Given the description of an element on the screen output the (x, y) to click on. 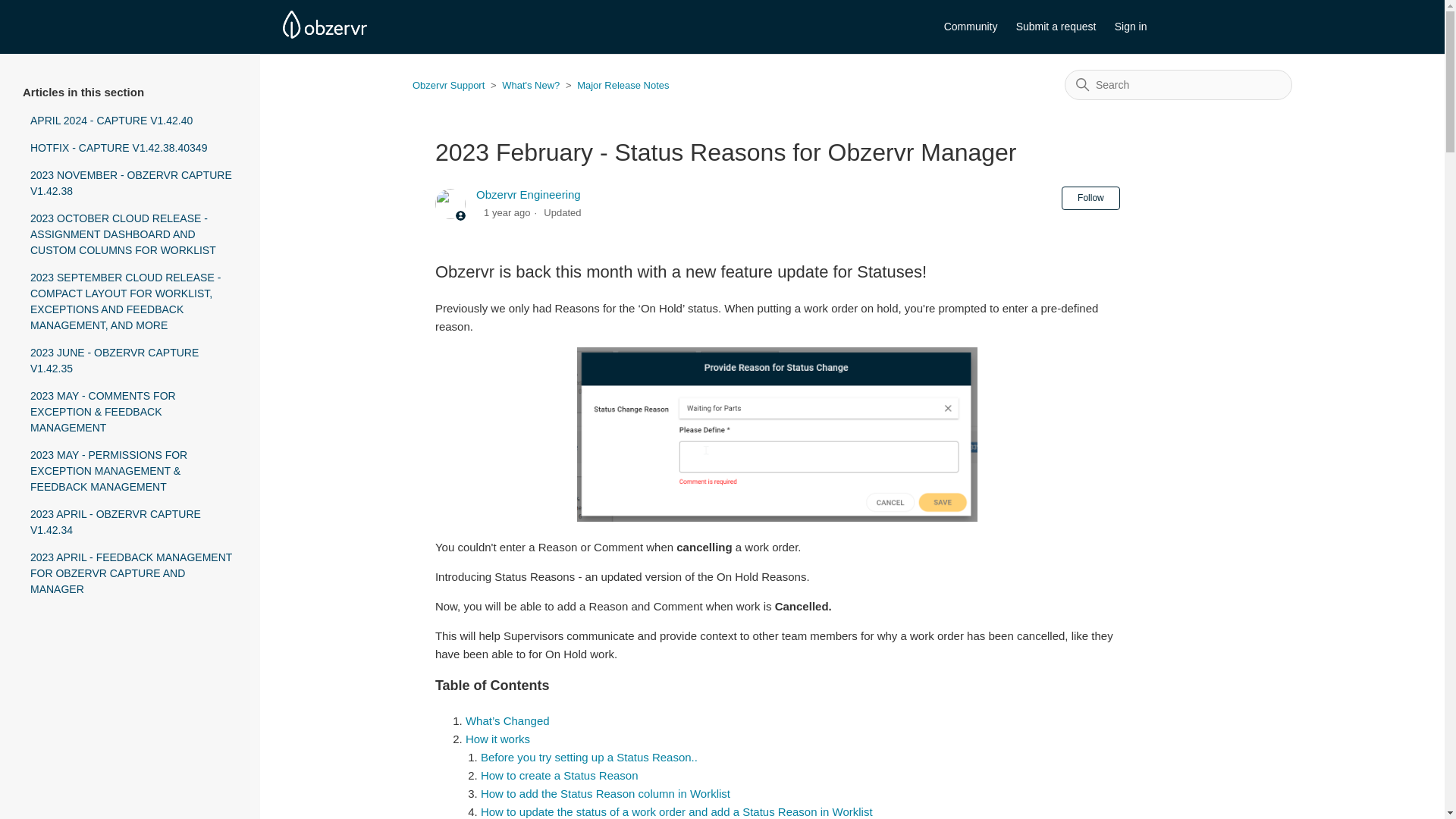
2023 APRIL - OBZERVR CAPTURE V1.42.34 (133, 522)
How it works (497, 738)
How to add the Status Reason column in Worklist (605, 793)
Submit a request (1064, 26)
Obzervr Engineering (528, 194)
What's New? (524, 84)
Home (324, 33)
2023 JUNE - OBZERVR CAPTURE V1.42.35 (133, 359)
